Given the description of an element on the screen output the (x, y) to click on. 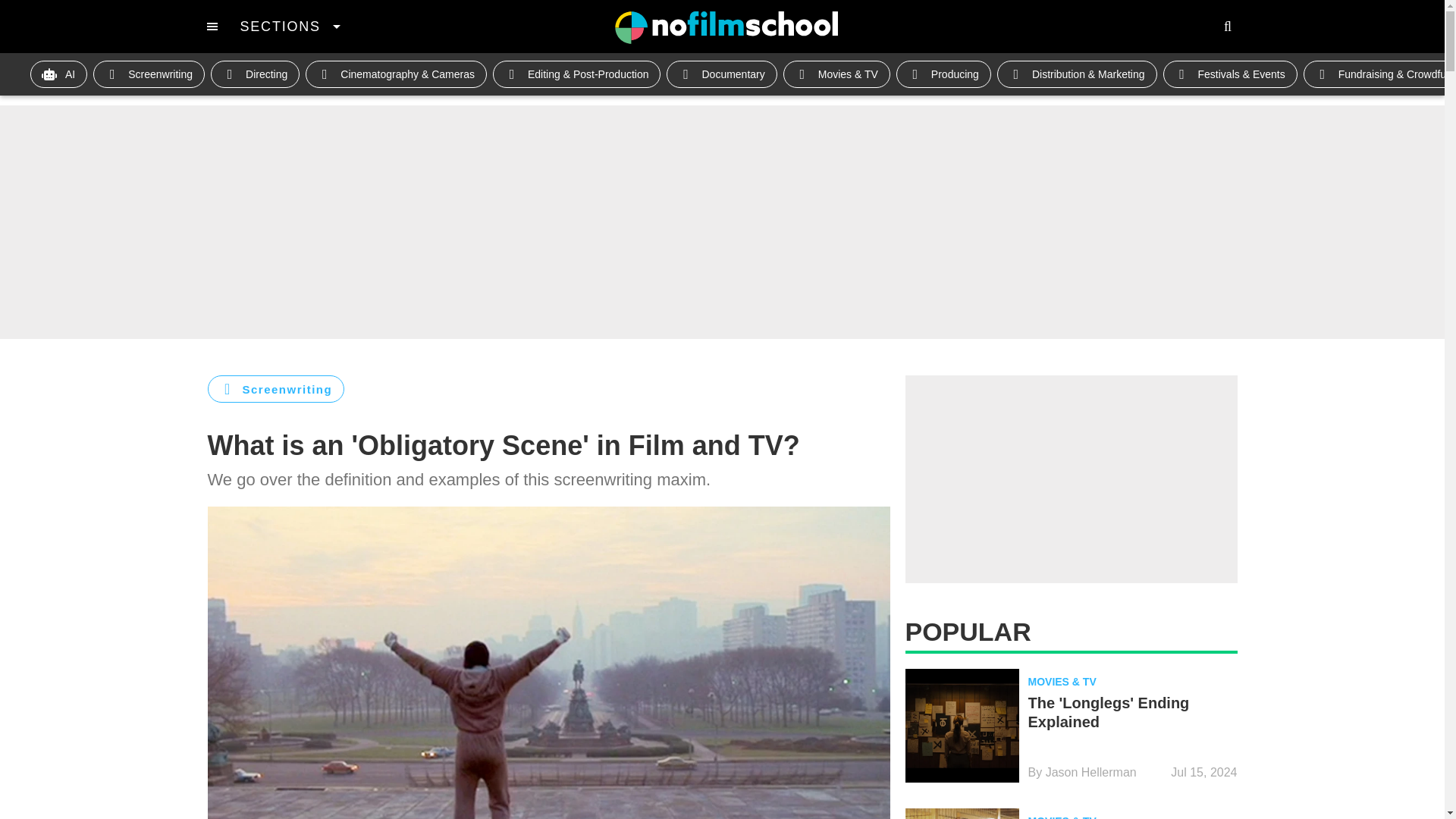
AI (58, 73)
SECTIONS (289, 26)
Documentary (721, 73)
Screenwriting (149, 73)
NO FILM SCHOOL (725, 27)
Producing (943, 73)
Directing (255, 73)
Screenwriting (276, 388)
NO FILM SCHOOL (725, 27)
